Given the description of an element on the screen output the (x, y) to click on. 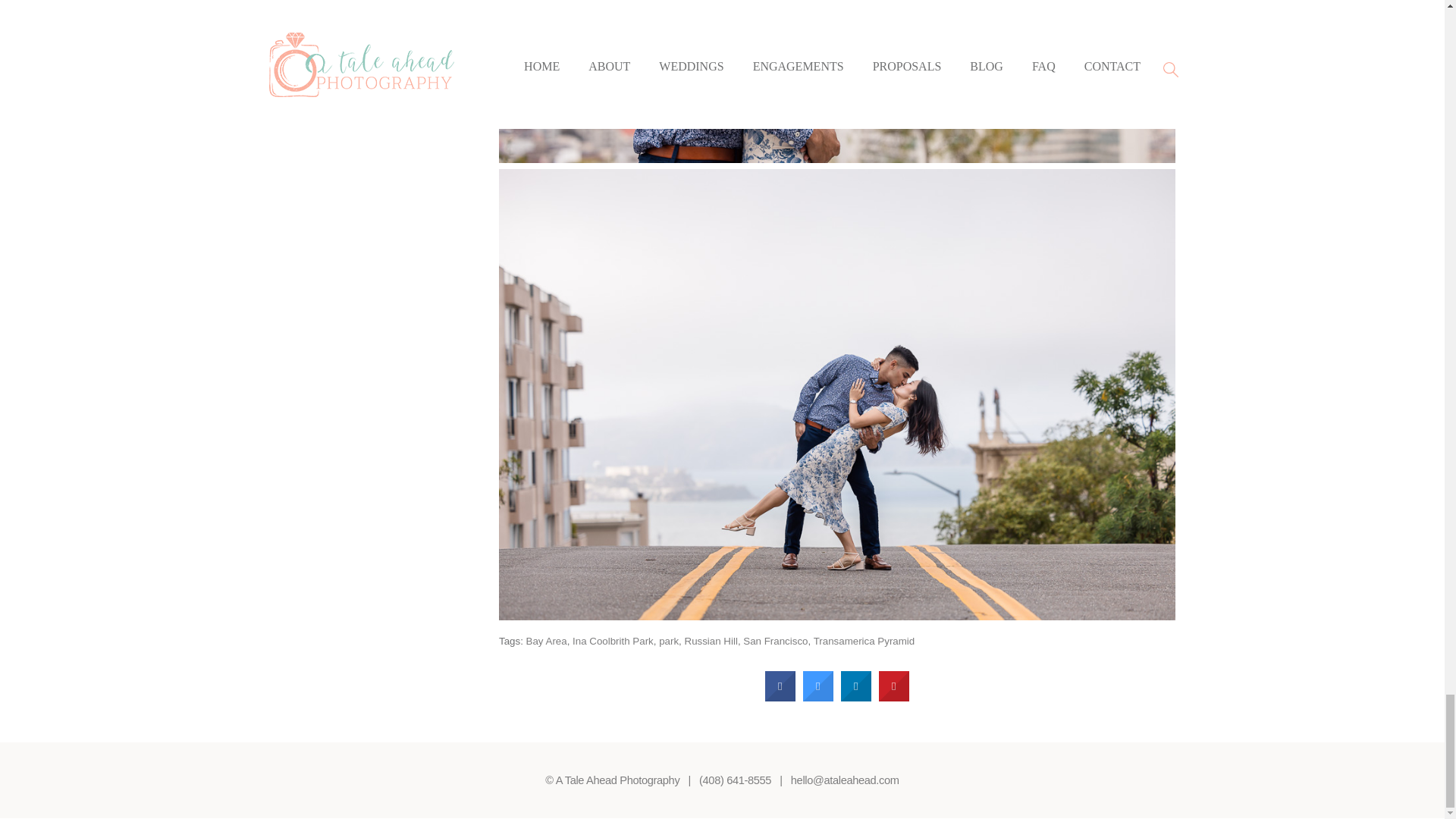
Share on Facebook (779, 697)
San Francisco (775, 641)
Bay Area (546, 641)
Share on Twitter (817, 697)
Ina Coolbrith Park (612, 641)
Russian Hill (710, 641)
Share on Pinterest (893, 697)
Share to LinkedIn (855, 697)
park (668, 641)
Transamerica Pyramid (864, 641)
